Given the description of an element on the screen output the (x, y) to click on. 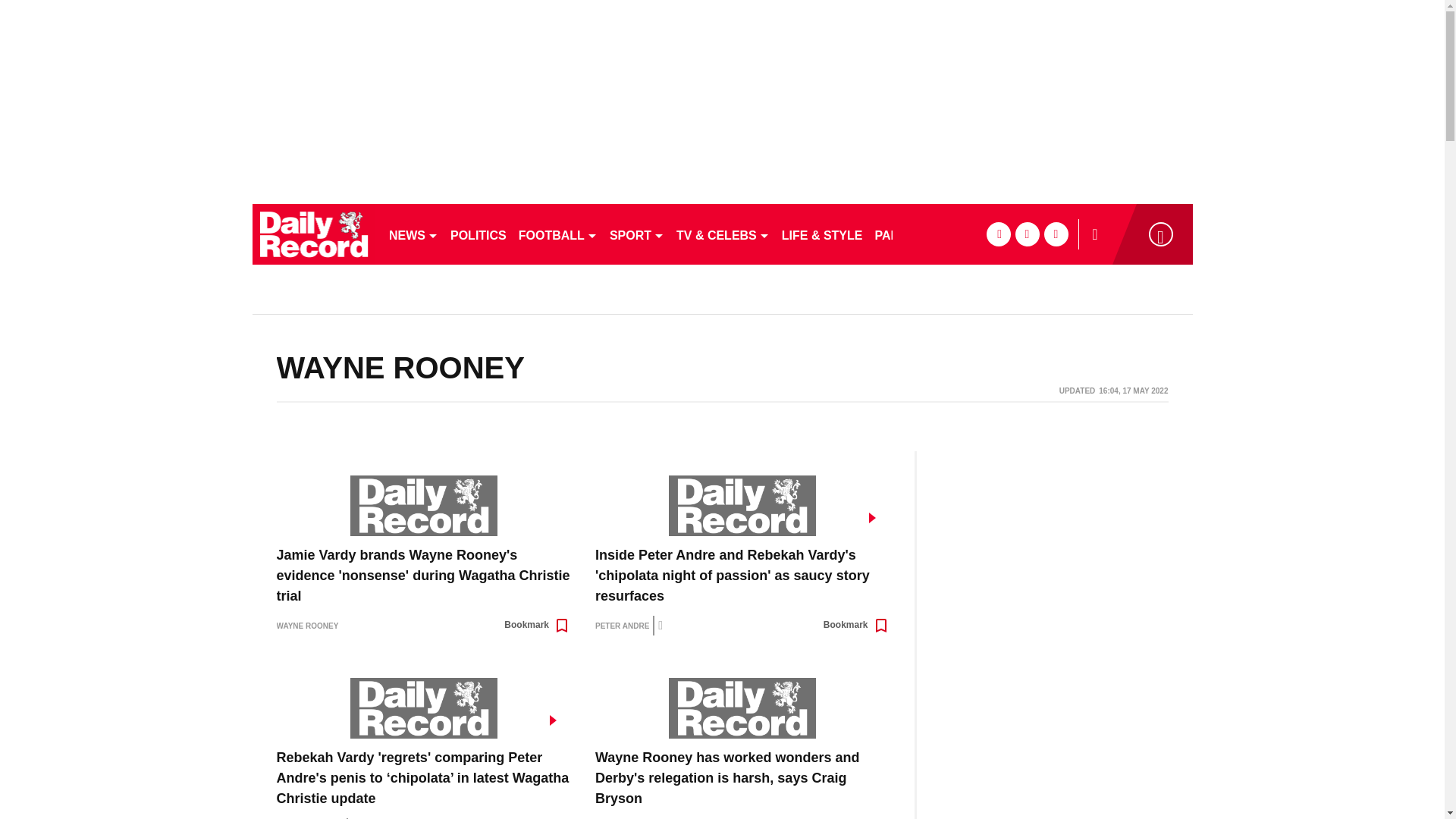
FOOTBALL (558, 233)
dailyrecord (313, 233)
facebook (997, 233)
POLITICS (478, 233)
twitter (1026, 233)
NEWS (413, 233)
SPORT (636, 233)
instagram (1055, 233)
